Given the description of an element on the screen output the (x, y) to click on. 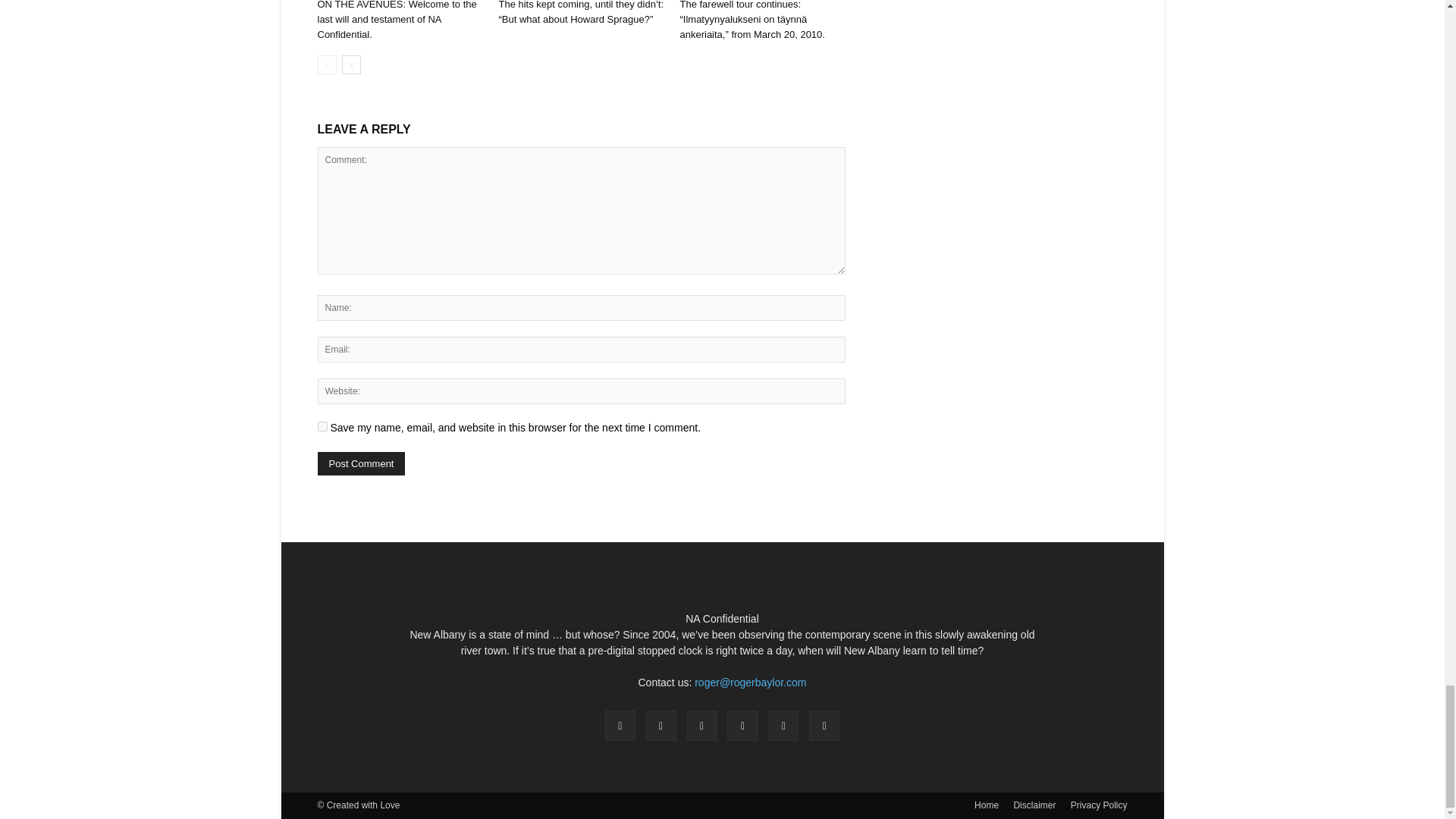
yes (321, 426)
Post Comment (360, 463)
